Given the description of an element on the screen output the (x, y) to click on. 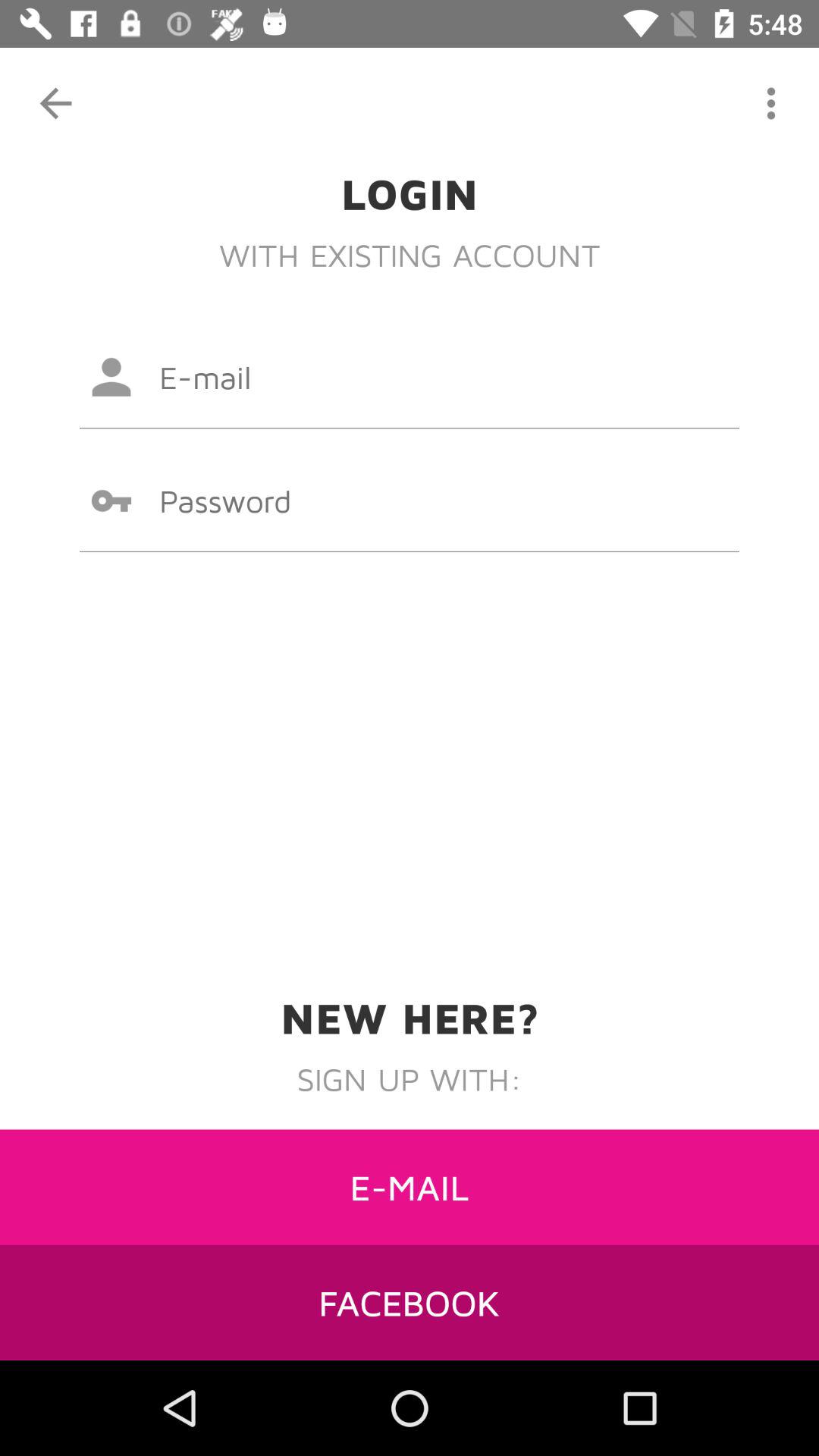
enter password (409, 500)
